Given the description of an element on the screen output the (x, y) to click on. 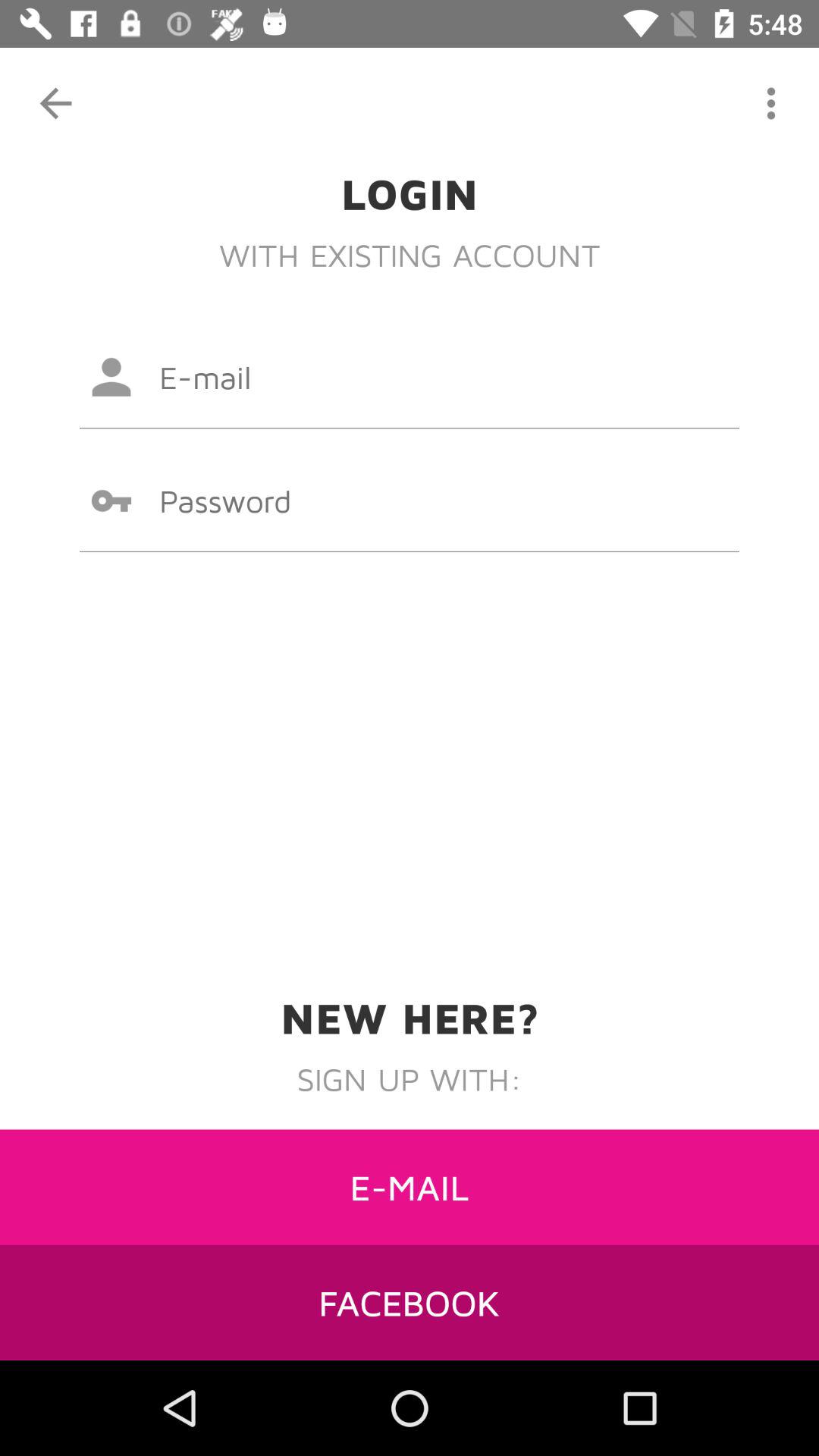
enter password (409, 500)
